Given the description of an element on the screen output the (x, y) to click on. 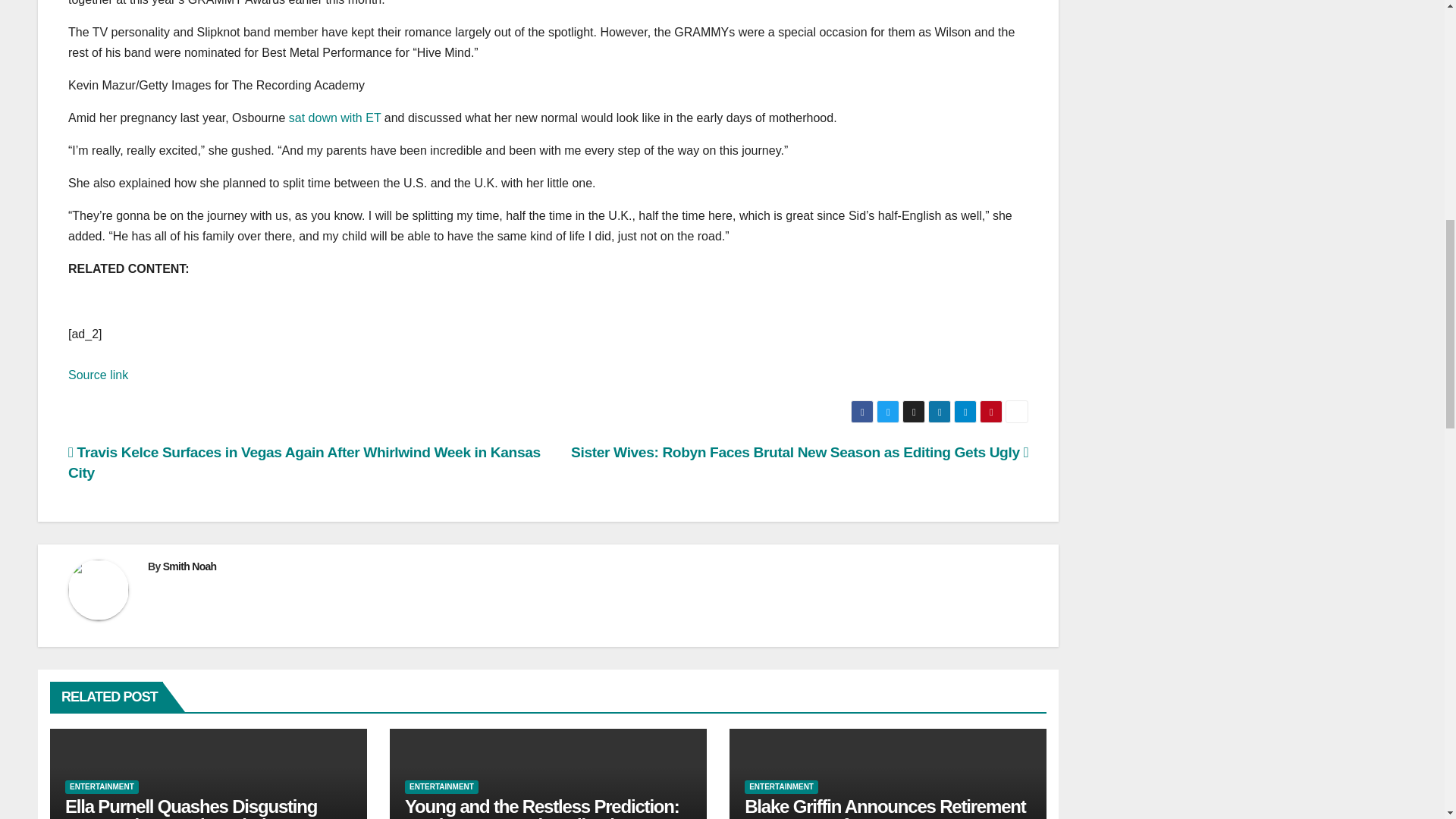
Smith Noah (189, 566)
ENTERTAINMENT (441, 786)
Source link (98, 374)
Ella Purnell Quashes Disgusting Rumor She Dated Brad Pitt (191, 807)
sat down with ET (334, 117)
ENTERTAINMENT (101, 786)
